Given the description of an element on the screen output the (x, y) to click on. 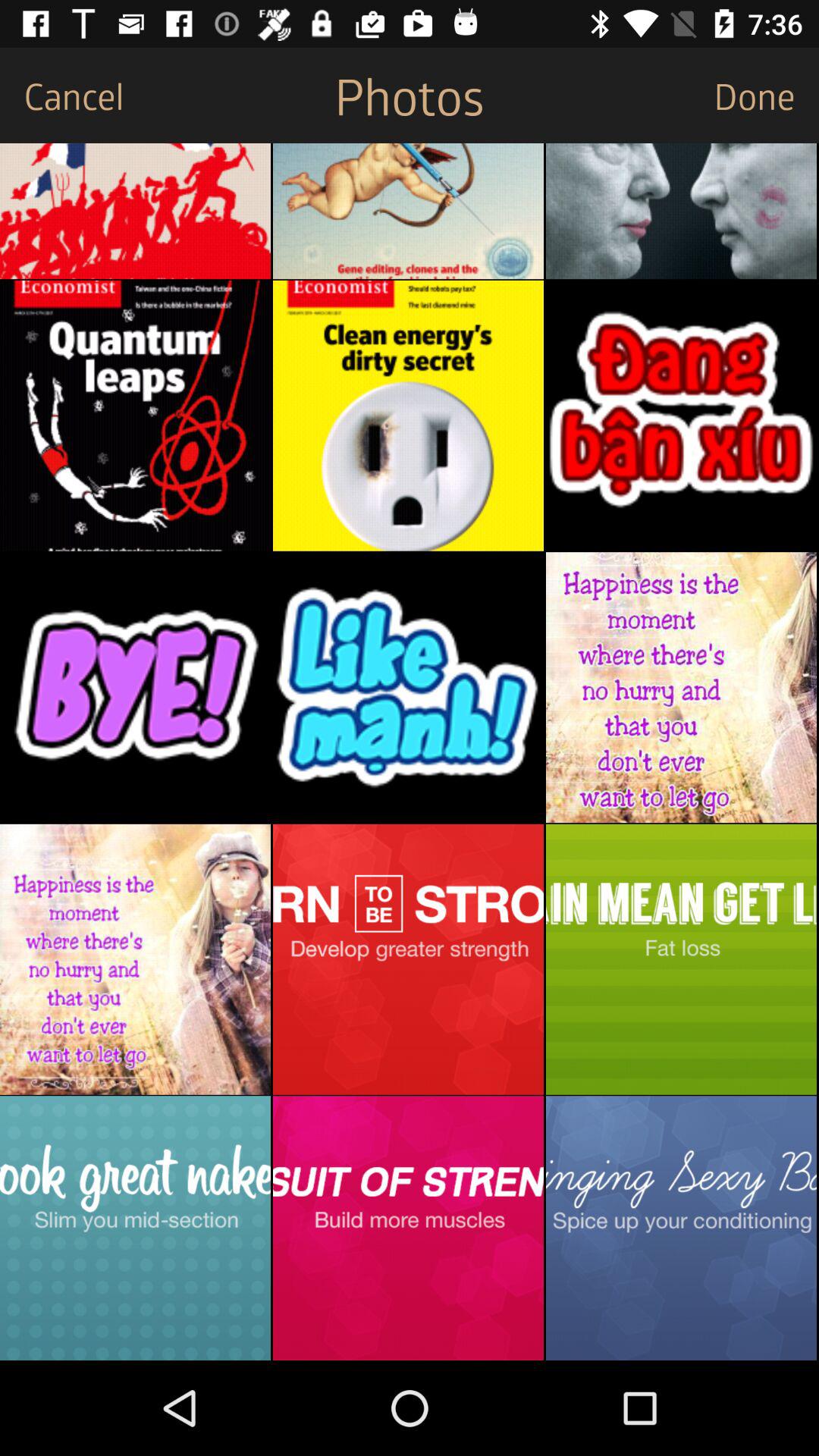
select image (135, 687)
